Given the description of an element on the screen output the (x, y) to click on. 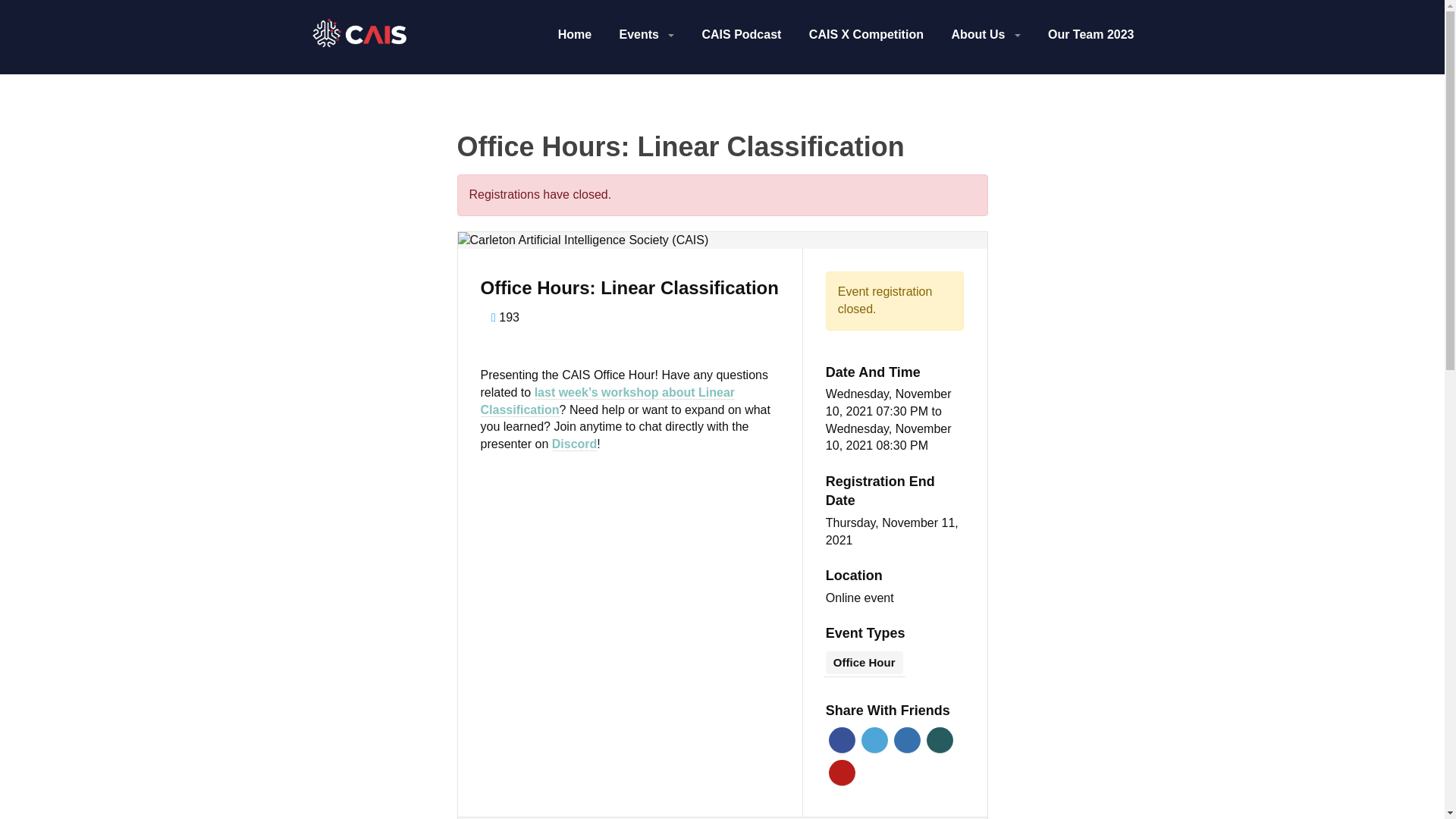
Discord (573, 444)
Pinterest (842, 773)
Share this page on Twitter (874, 740)
Share this page on Linkedin (906, 740)
Twitter (874, 740)
Our Team 2023 (1091, 36)
Share this page on Pinterest (842, 773)
Facebook (842, 740)
Home (574, 36)
CAIS X Competition (866, 36)
